Given the description of an element on the screen output the (x, y) to click on. 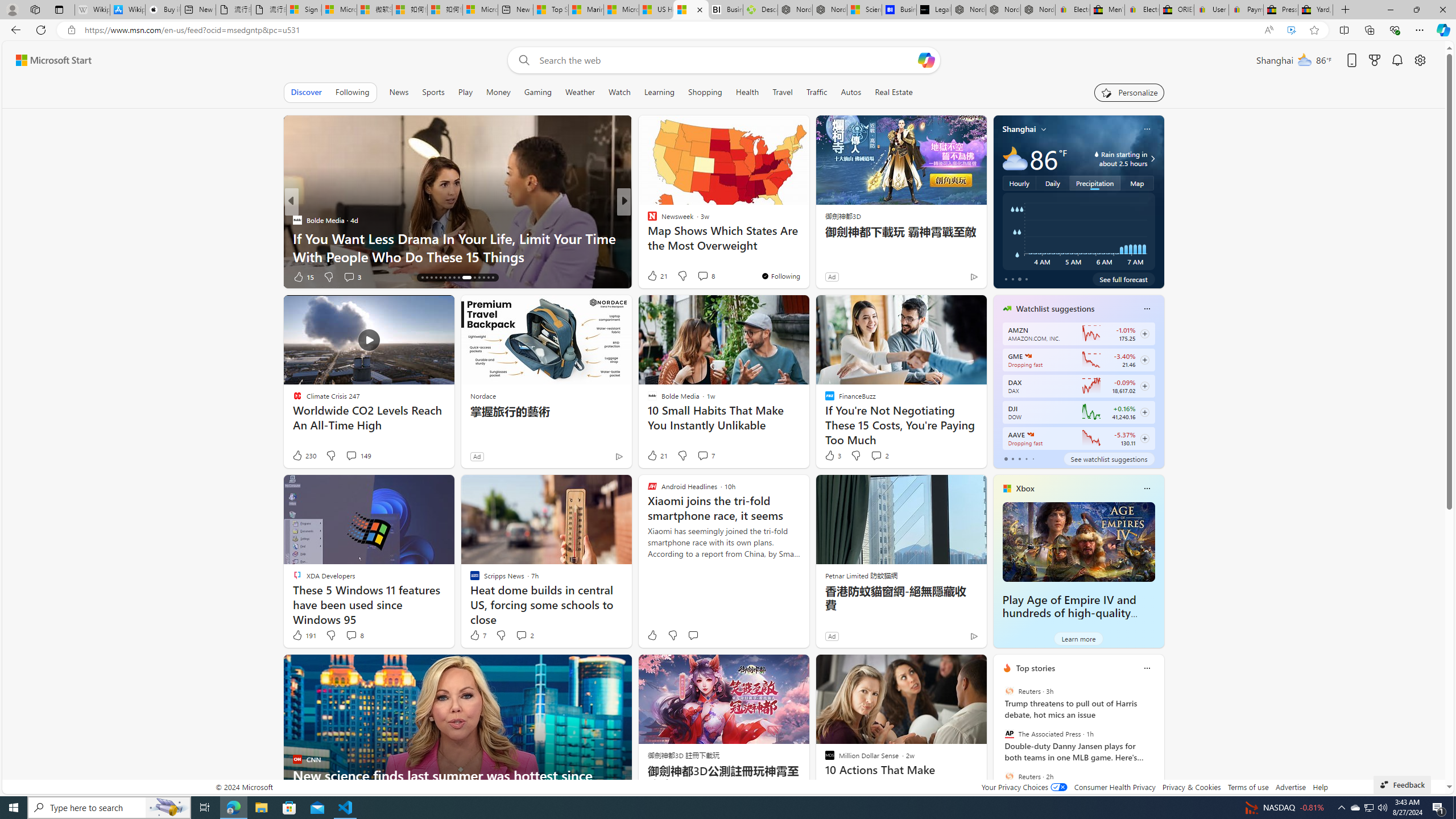
View comments 8 Comment (354, 634)
AutomationID: tab-20 (440, 277)
AutomationID: tab-16 (422, 277)
AutomationID: tab-29 (488, 277)
AutomationID: tab-26 (474, 277)
Press Room - eBay Inc. (1280, 9)
The Weather Channel (647, 219)
